Given the description of an element on the screen output the (x, y) to click on. 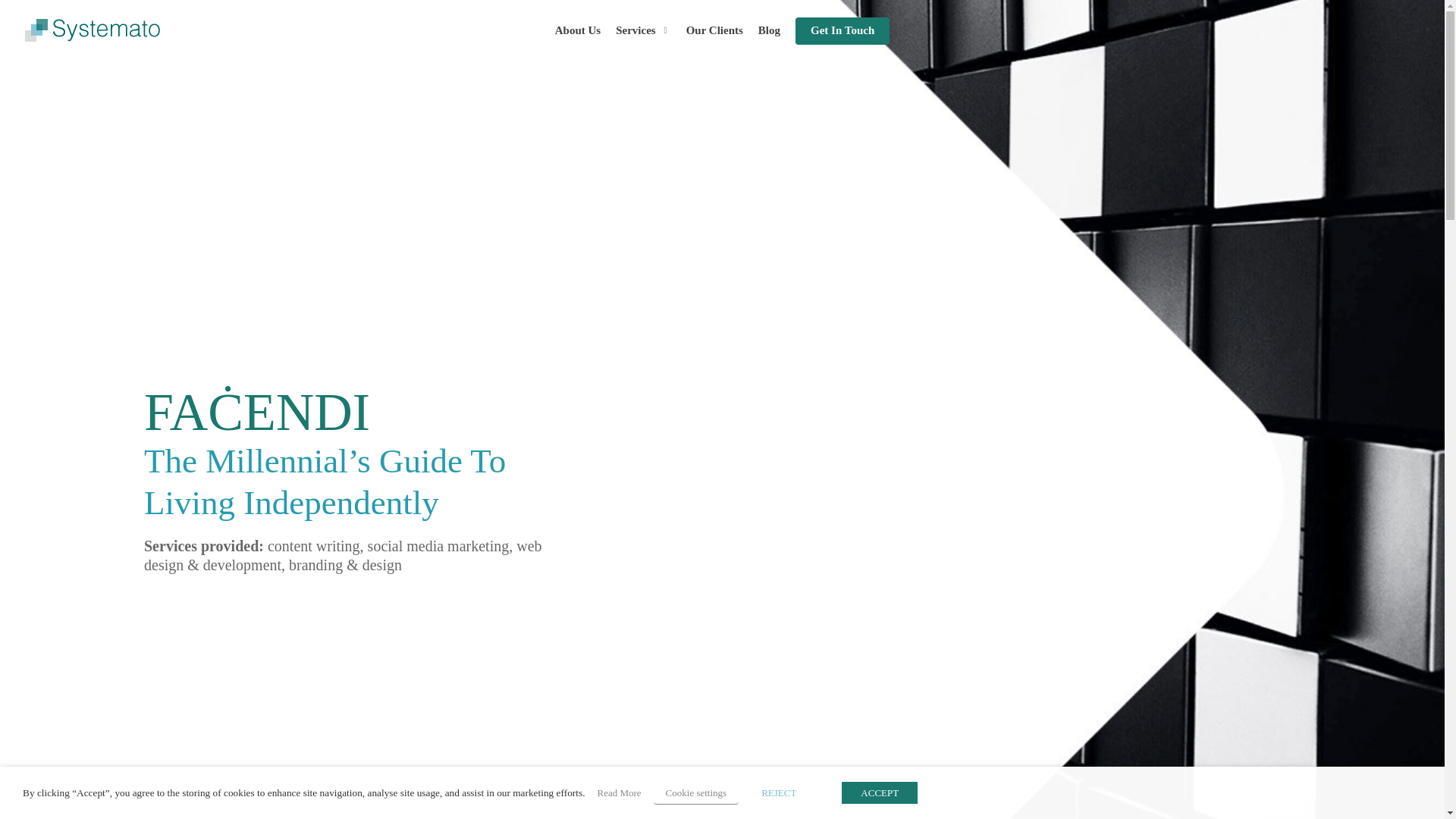
Get In Touch (841, 30)
About Us (576, 30)
Services (642, 30)
Blog (769, 30)
Our Clients (713, 30)
